Given the description of an element on the screen output the (x, y) to click on. 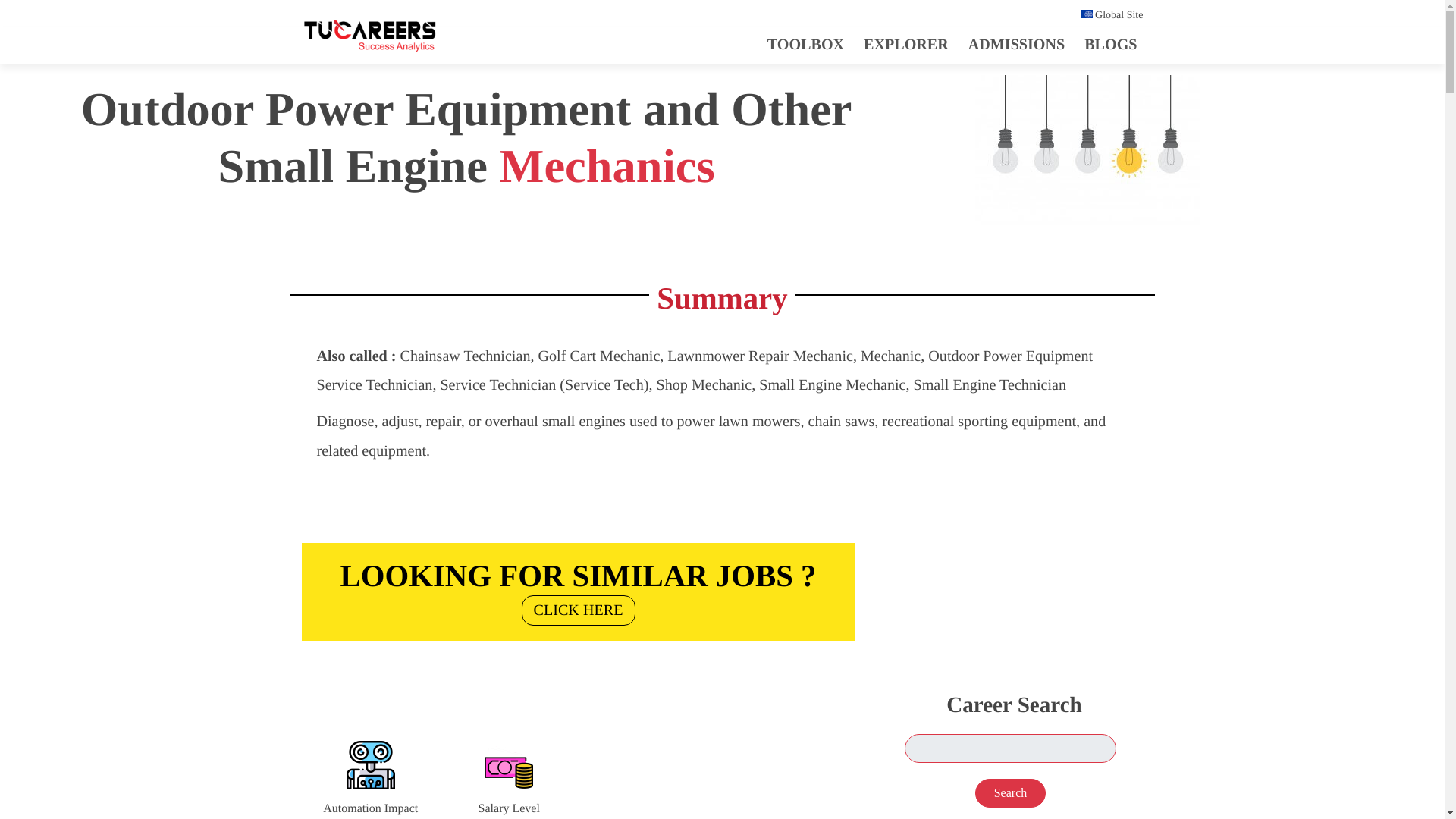
Skip to main content (578, 587)
BLOGS (578, 587)
ADMISSIONS (1110, 44)
EXPLORER (369, 39)
TOOLBOX (1016, 44)
Search (906, 44)
